Given the description of an element on the screen output the (x, y) to click on. 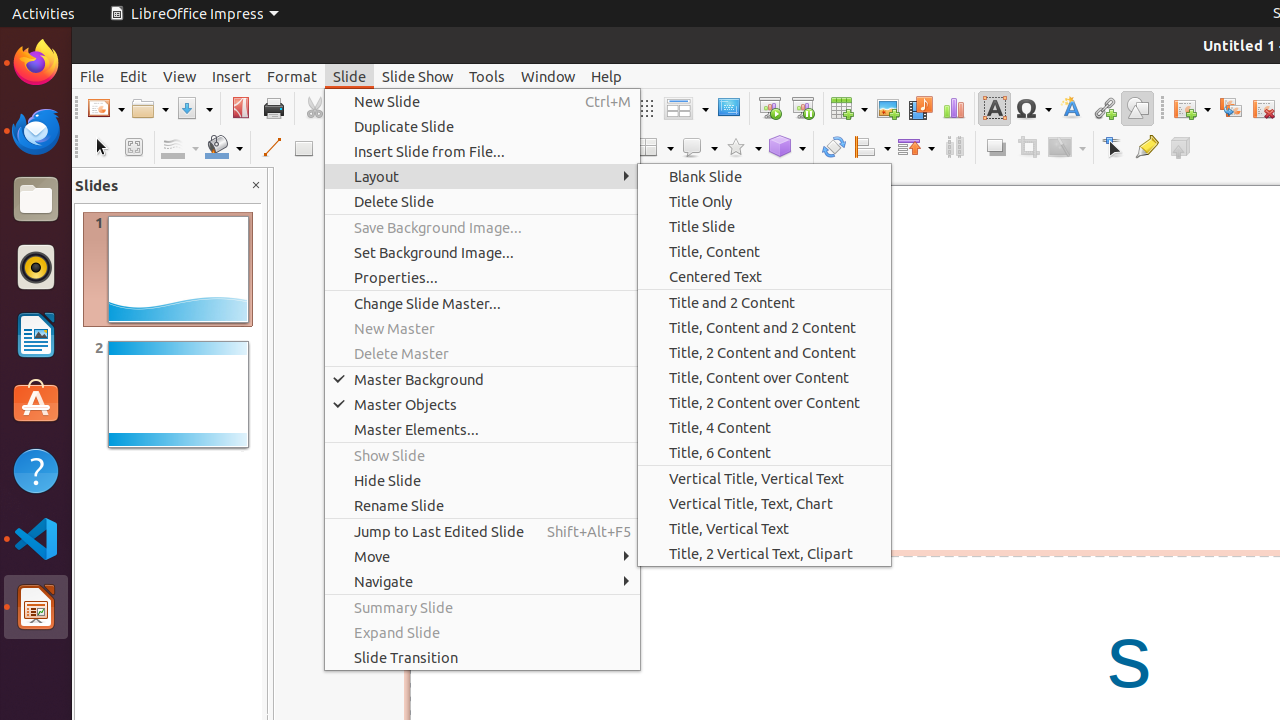
Slide Show Element type: menu (417, 76)
Fill Color Element type: push-button (224, 147)
Move Element type: menu (482, 556)
Insert Slide from File... Element type: menu-item (482, 151)
Navigate Element type: menu (482, 581)
